Given the description of an element on the screen output the (x, y) to click on. 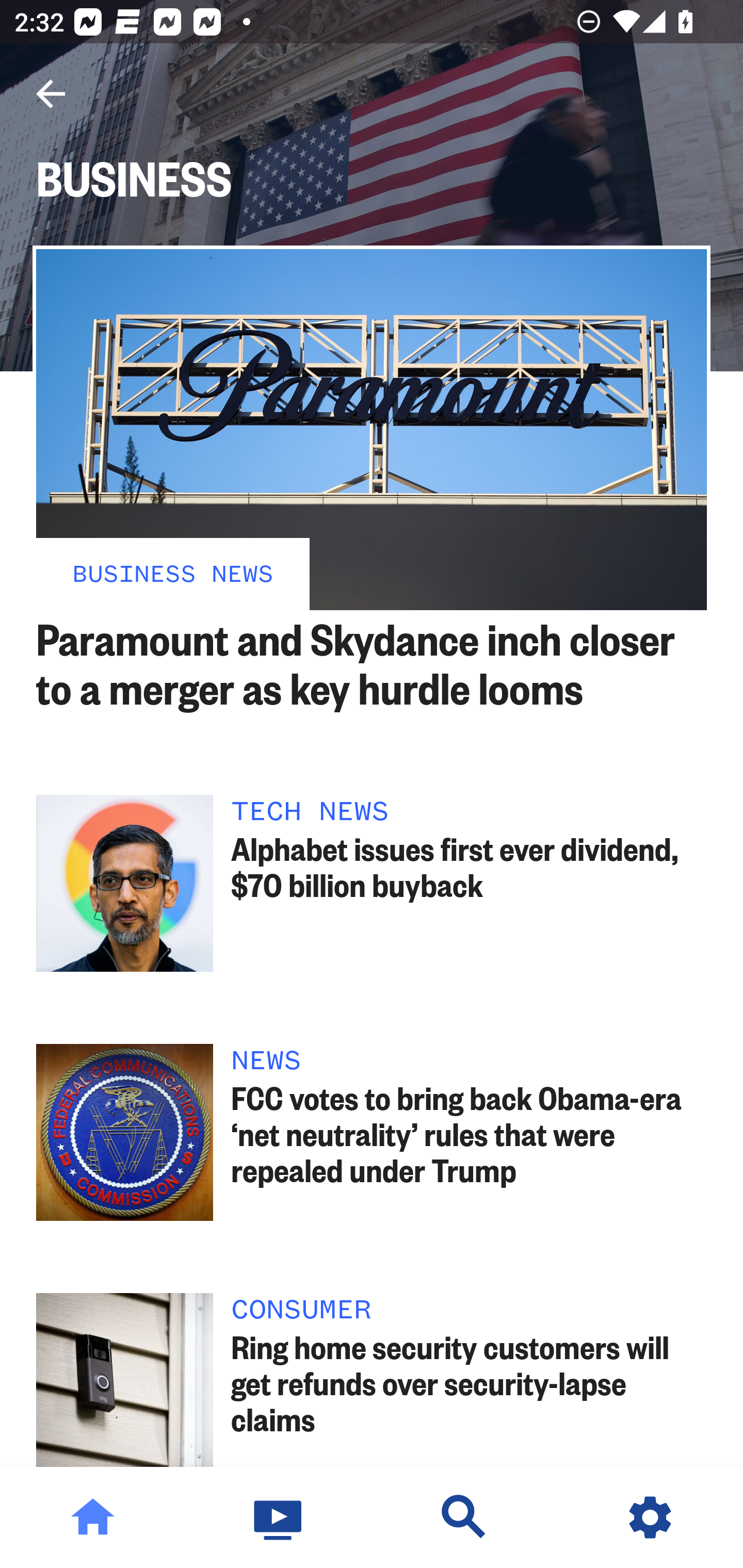
Navigate up (50, 93)
Watch (278, 1517)
Discover (464, 1517)
Settings (650, 1517)
